Given the description of an element on the screen output the (x, y) to click on. 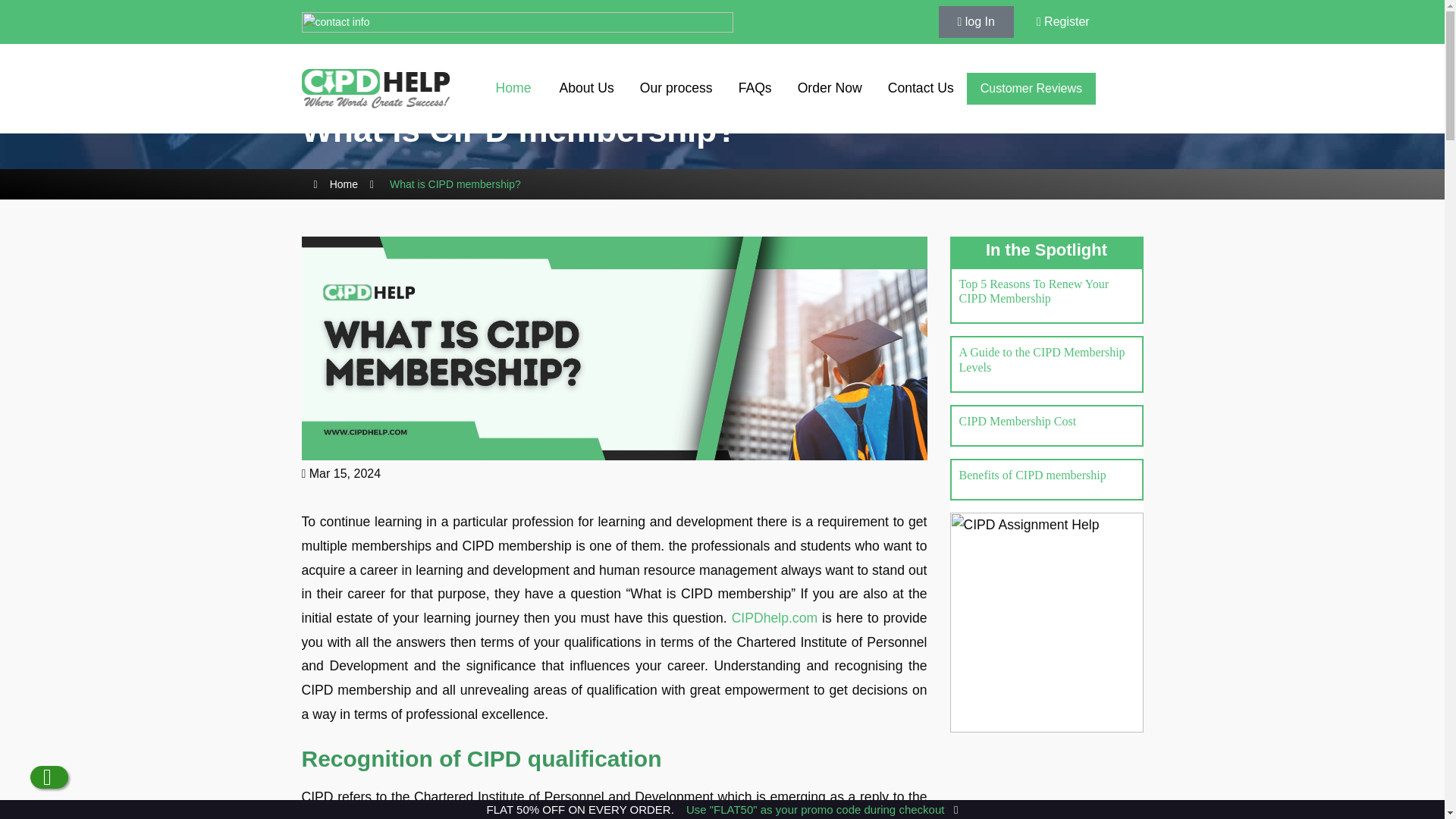
CIPD Membership Cost (1016, 420)
Top 5 Reasons To Renew Your CIPD Membership (1033, 290)
About Us (586, 88)
log In (976, 21)
Home (513, 88)
Register (1062, 21)
FAQs (754, 88)
Order Now (829, 88)
Customer Reviews (1031, 88)
Home (344, 185)
Benefits of CIPD membership (1031, 474)
A Guide to the CIPD Membership Levels (1041, 359)
Our process (676, 88)
Contact Us (920, 88)
CIPDhelp.com (774, 617)
